Given the description of an element on the screen output the (x, y) to click on. 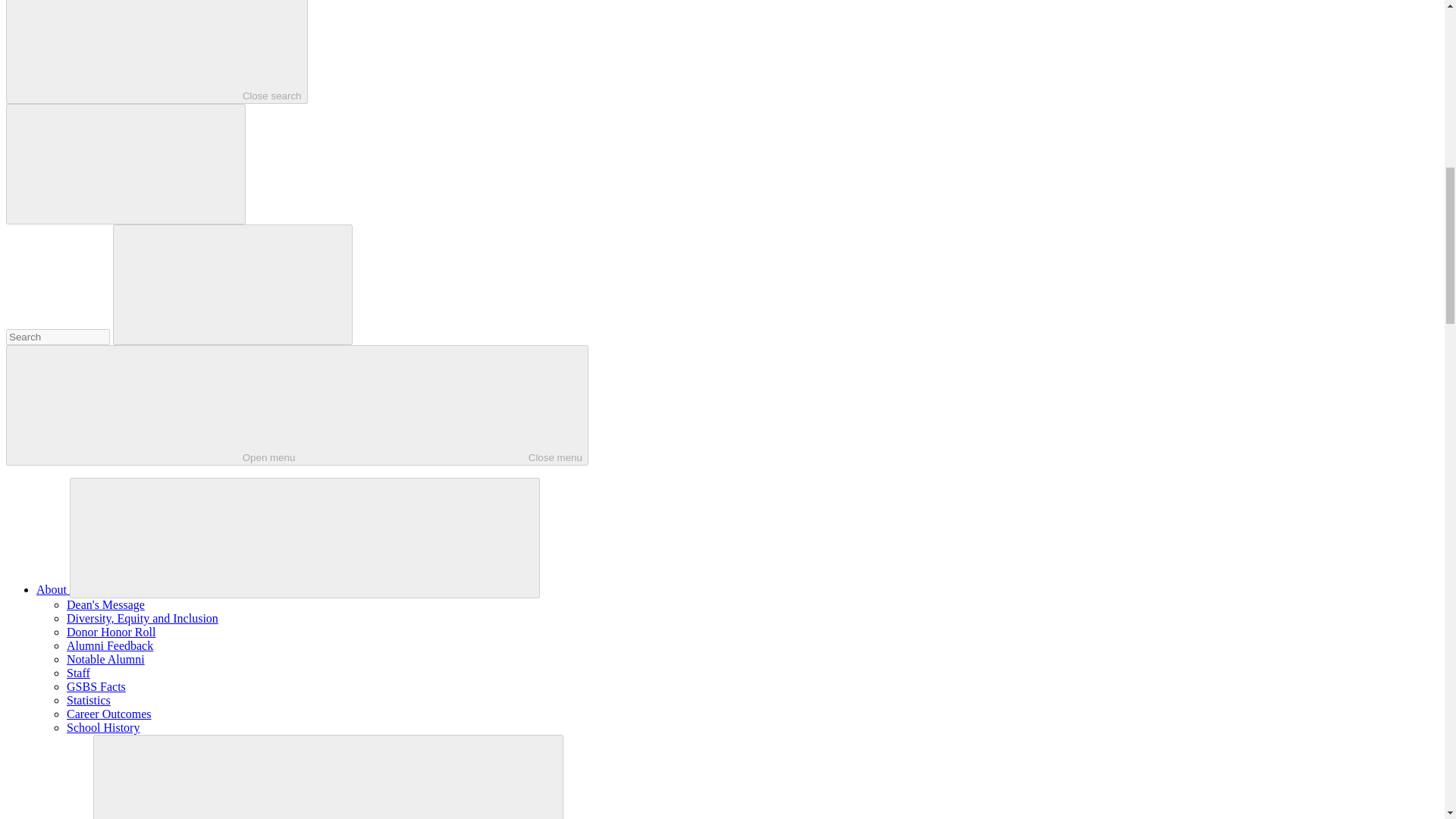
Notable Alumni (105, 658)
Alumni Feedback (109, 645)
School History (102, 727)
Career Outcomes (108, 713)
Dean's Message (105, 604)
Donor Honor Roll (110, 631)
About (52, 589)
Statistics (88, 699)
GSBS Facts (156, 52)
